Given the description of an element on the screen output the (x, y) to click on. 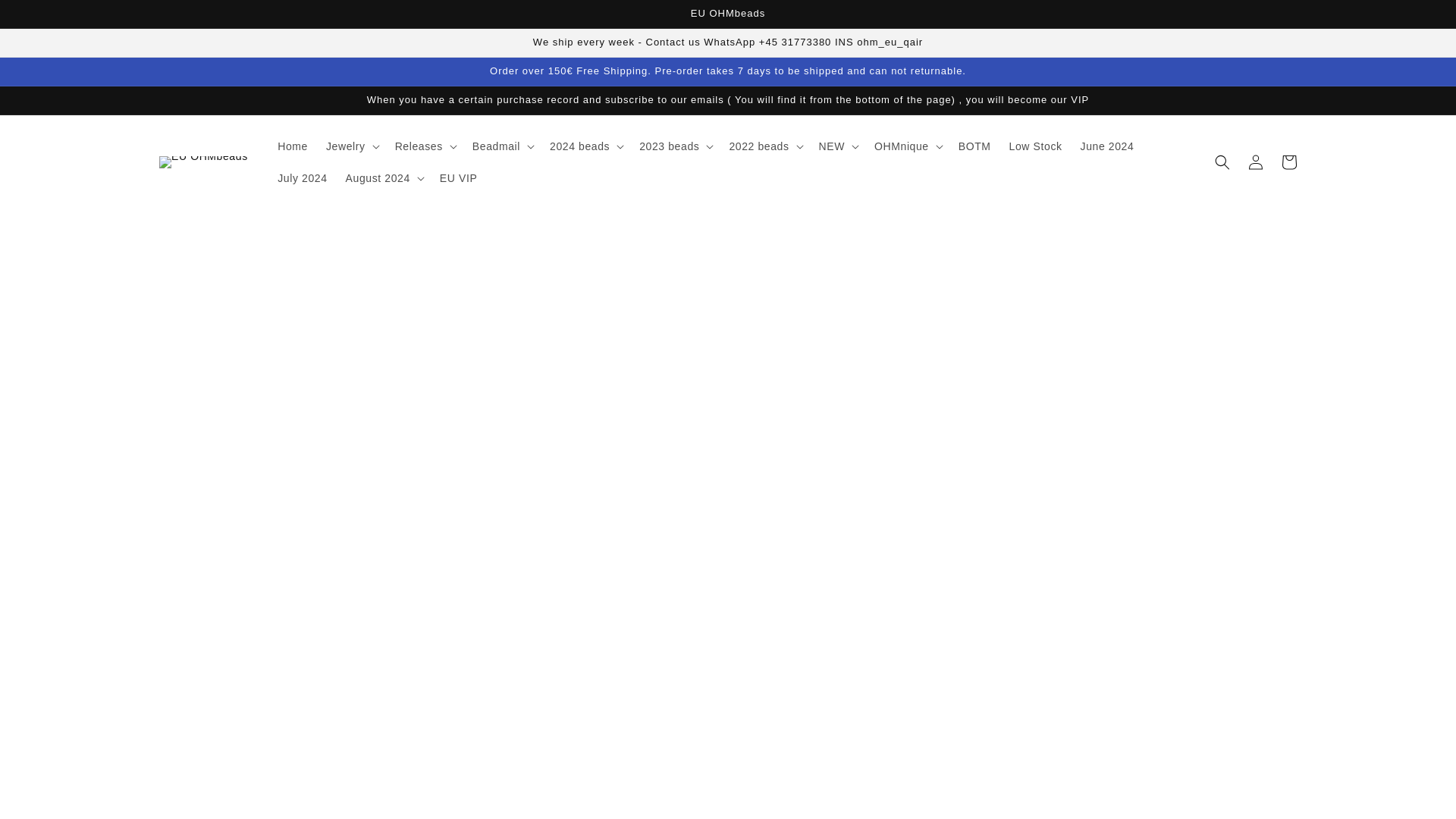
Skip to content (46, 18)
